Given the description of an element on the screen output the (x, y) to click on. 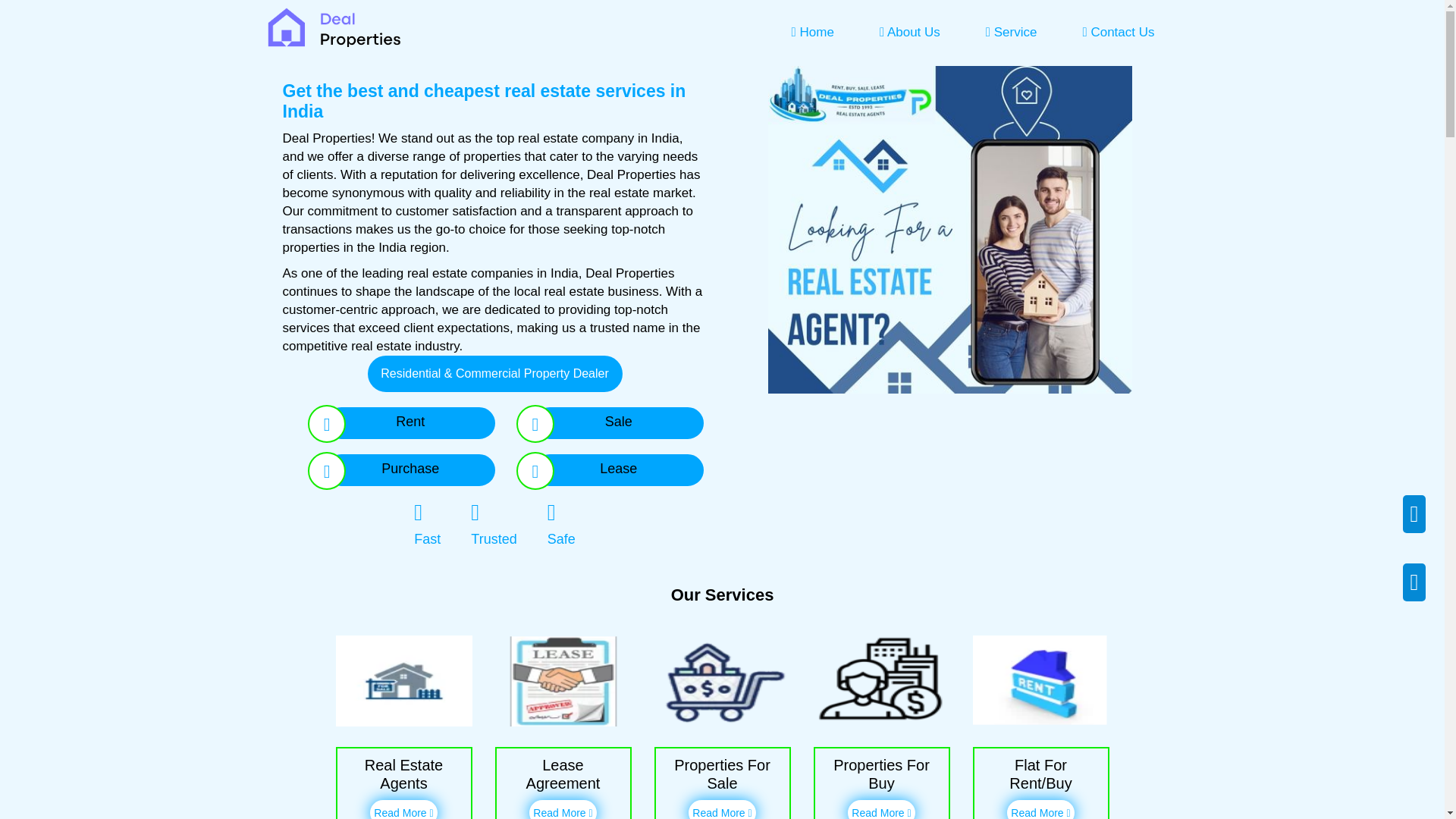
Read More (402, 809)
Contact Us (1117, 32)
Read More (1040, 809)
Read More (880, 809)
Read More (562, 809)
About Us (909, 32)
Home (812, 32)
Read More (721, 809)
Service (1010, 32)
